Given the description of an element on the screen output the (x, y) to click on. 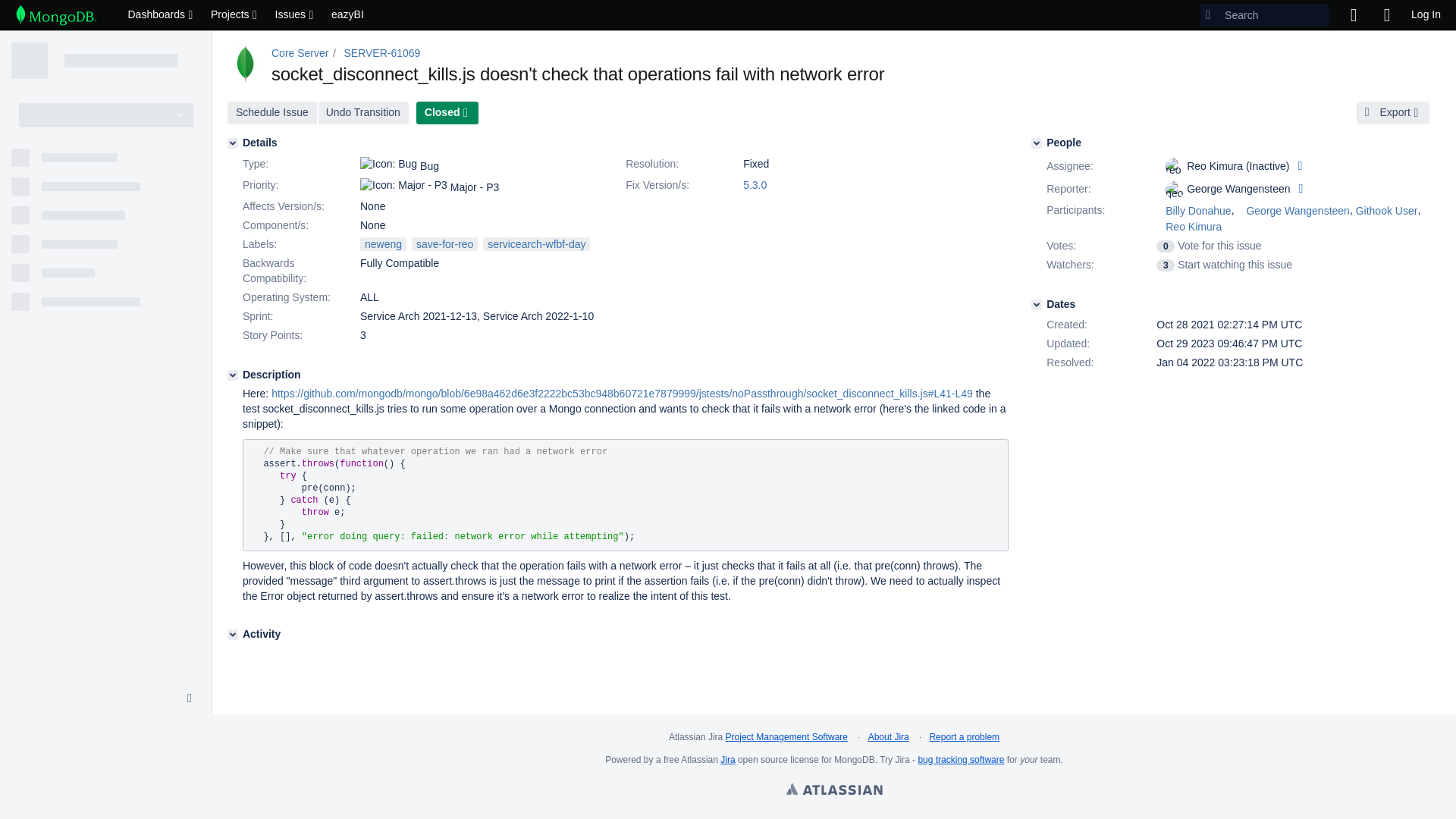
Billy Donahue (1193, 211)
servicearch-wfbf-day (536, 243)
SERVER-61069 (381, 52)
save-for-reo (444, 243)
neweng (382, 243)
neweng (382, 243)
Major - P3 - Major loss of function. (402, 185)
servicearch-wfbf-day (536, 243)
Find all issues George Wangensteen participated in (1292, 211)
Export (1392, 112)
